Given the description of an element on the screen output the (x, y) to click on. 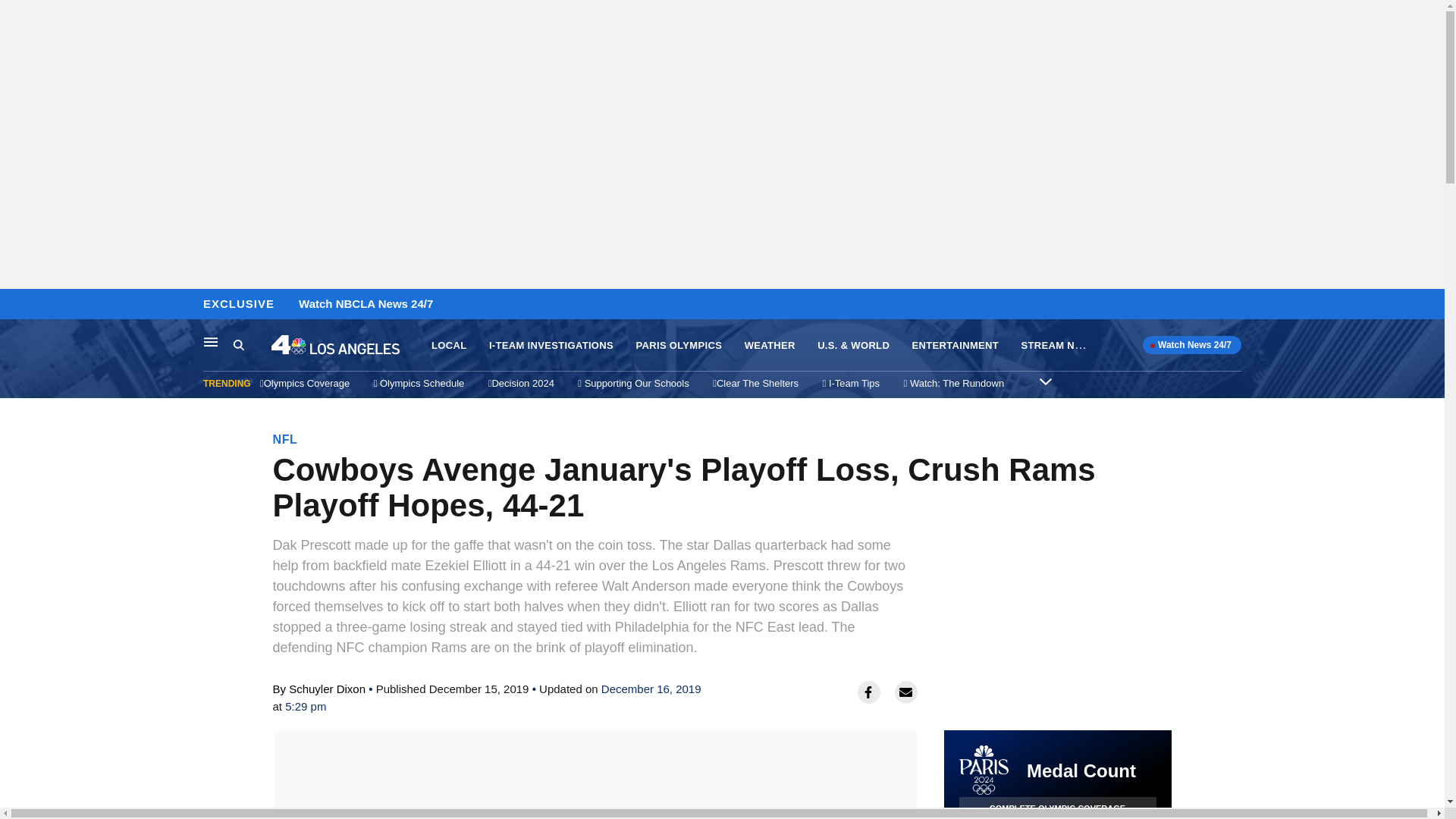
Skip to content (16, 304)
Search (252, 345)
Main Navigation (210, 341)
Search (238, 344)
WEATHER (769, 345)
Expand (1045, 381)
NFL (285, 439)
I-TEAM INVESTIGATIONS (550, 345)
LOCAL (447, 345)
PARIS OLYMPICS (678, 345)
